Given the description of an element on the screen output the (x, y) to click on. 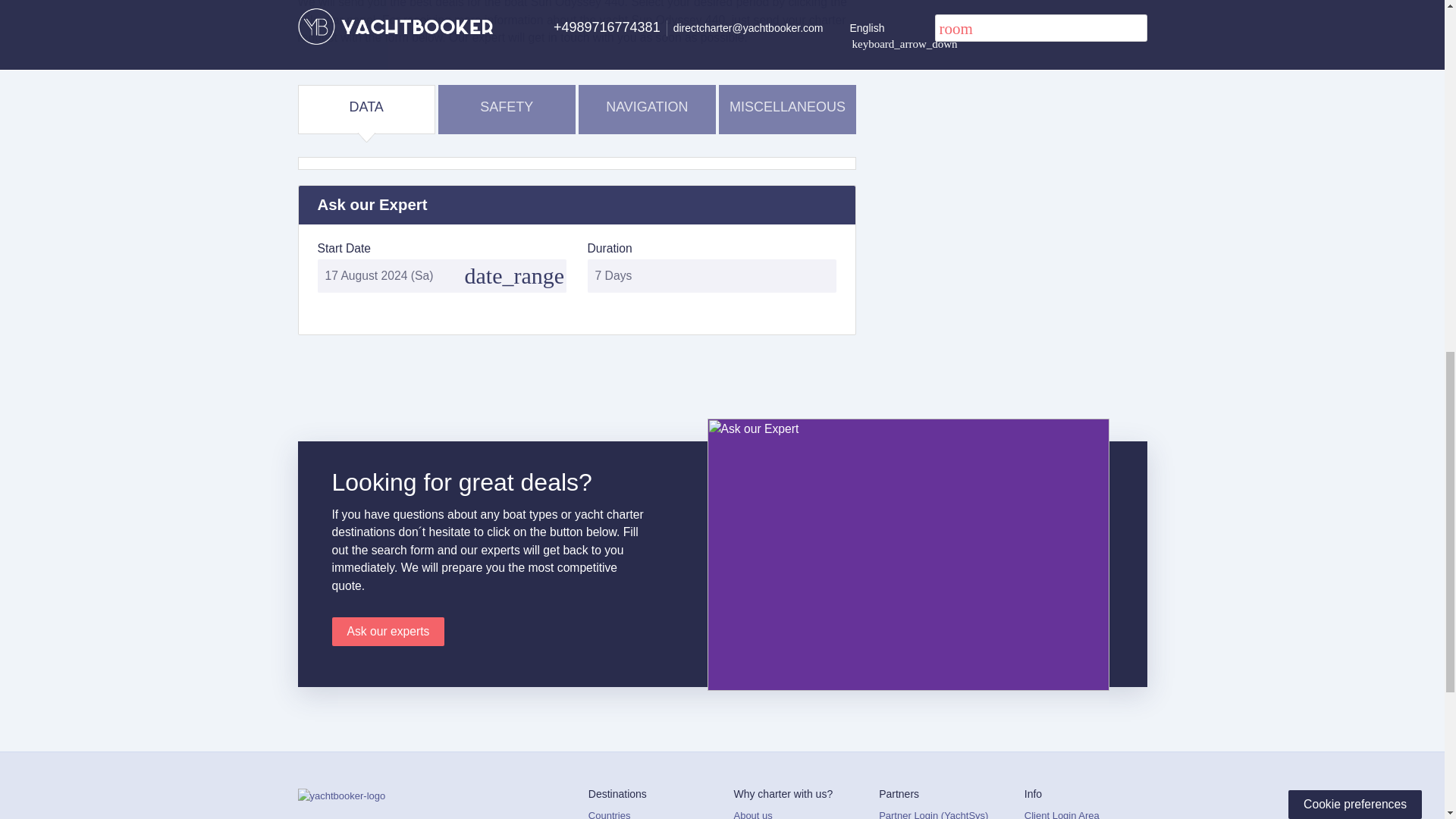
SAFETY (507, 106)
Ask our experts (388, 631)
DATA (365, 106)
MISCELLANEOUS (787, 106)
NAVIGATION (646, 106)
